Given the description of an element on the screen output the (x, y) to click on. 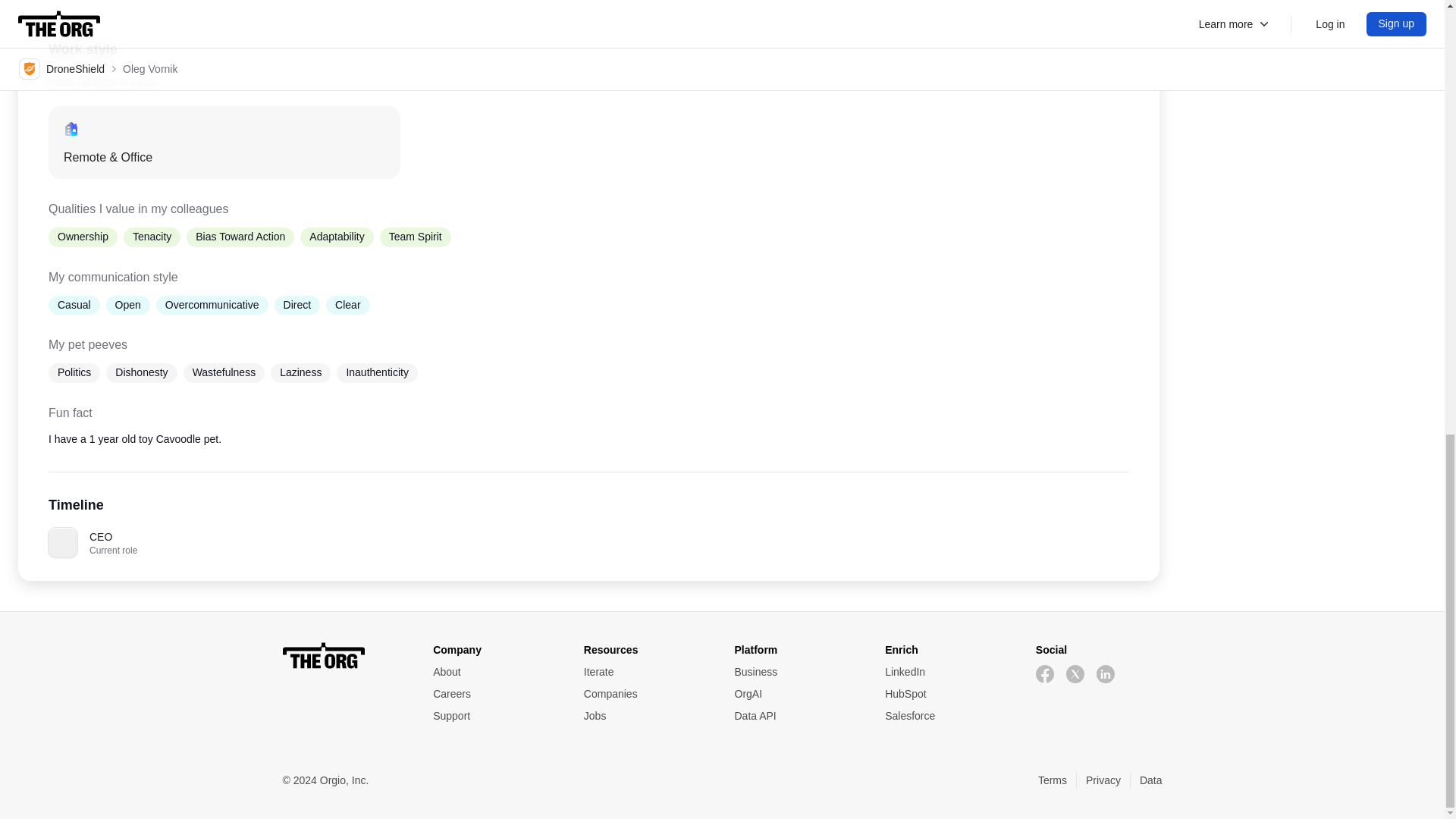
Jobs (646, 715)
Companies (646, 693)
LinkedIn (948, 672)
LinkedIn (948, 672)
Careers (495, 693)
The Org logo (345, 655)
About (495, 672)
Data API (796, 715)
HubSpot (948, 693)
Business (796, 672)
